Given the description of an element on the screen output the (x, y) to click on. 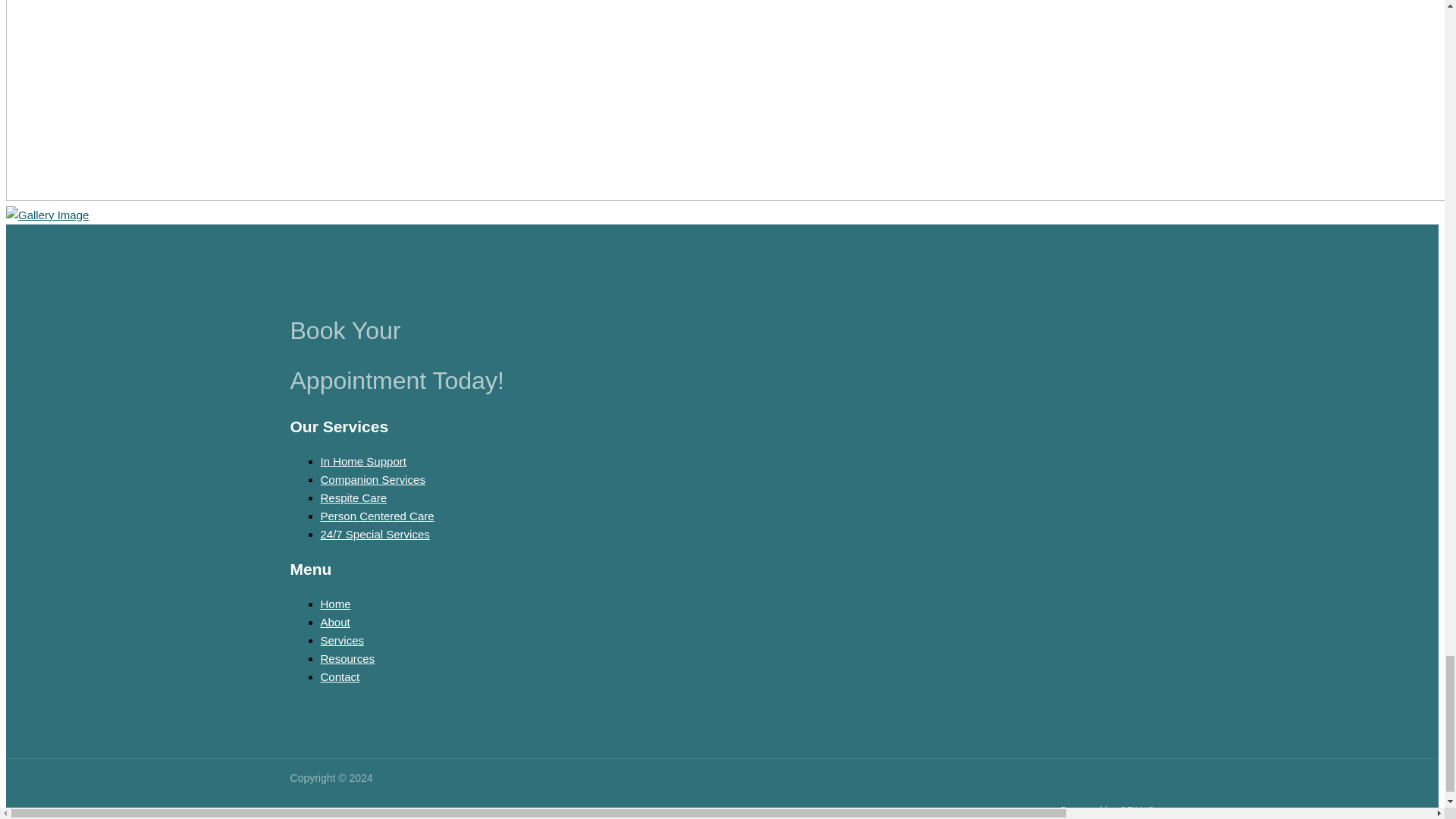
Respite Care (353, 497)
Resources (347, 658)
About (334, 621)
Services (342, 640)
Person Centered Care (376, 515)
Home (335, 603)
In Home Support (363, 461)
Contact (339, 676)
Companion Services (372, 479)
